Given the description of an element on the screen output the (x, y) to click on. 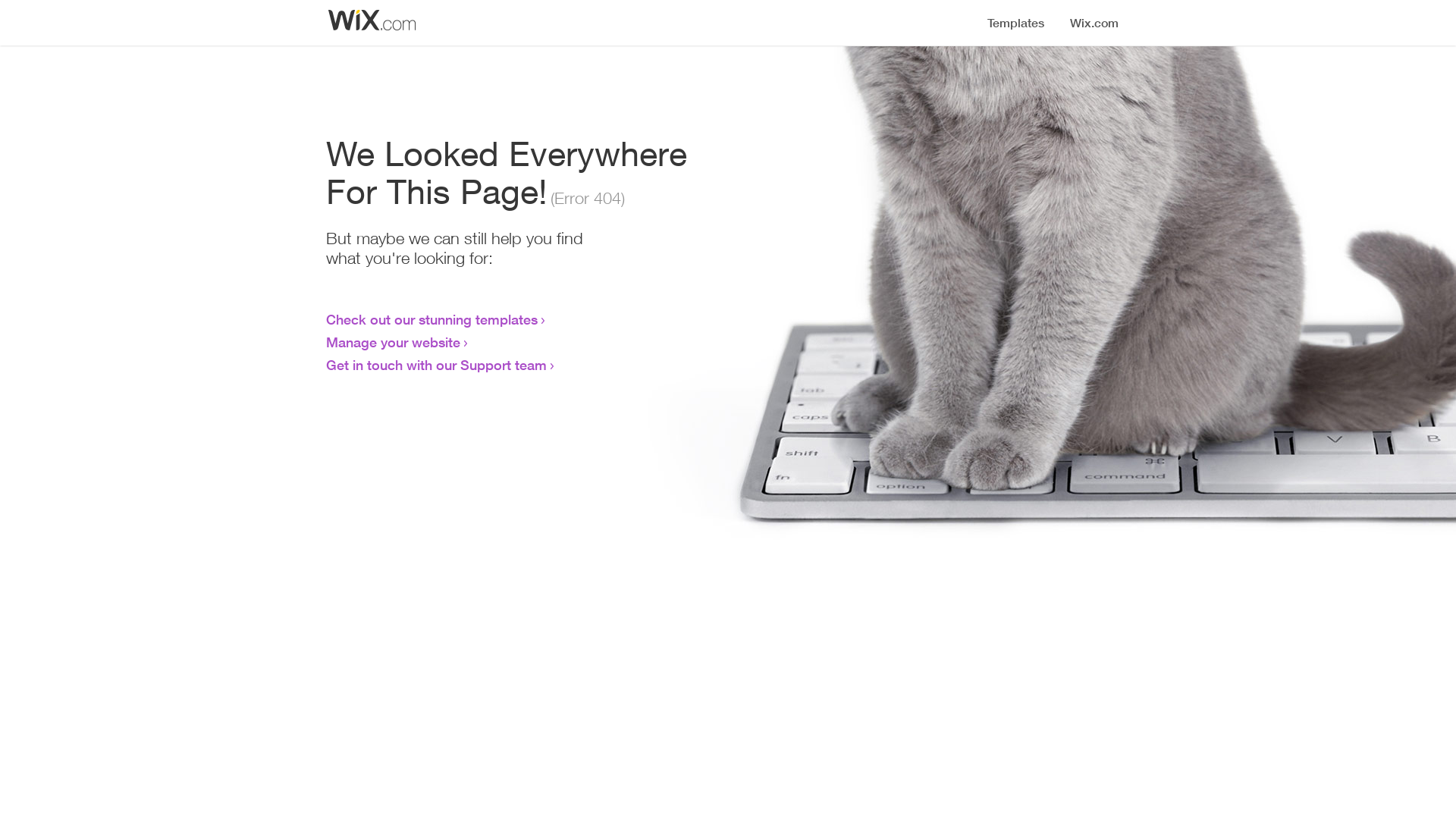
Manage your website Element type: text (393, 341)
Check out our stunning templates Element type: text (431, 318)
Get in touch with our Support team Element type: text (436, 364)
